Given the description of an element on the screen output the (x, y) to click on. 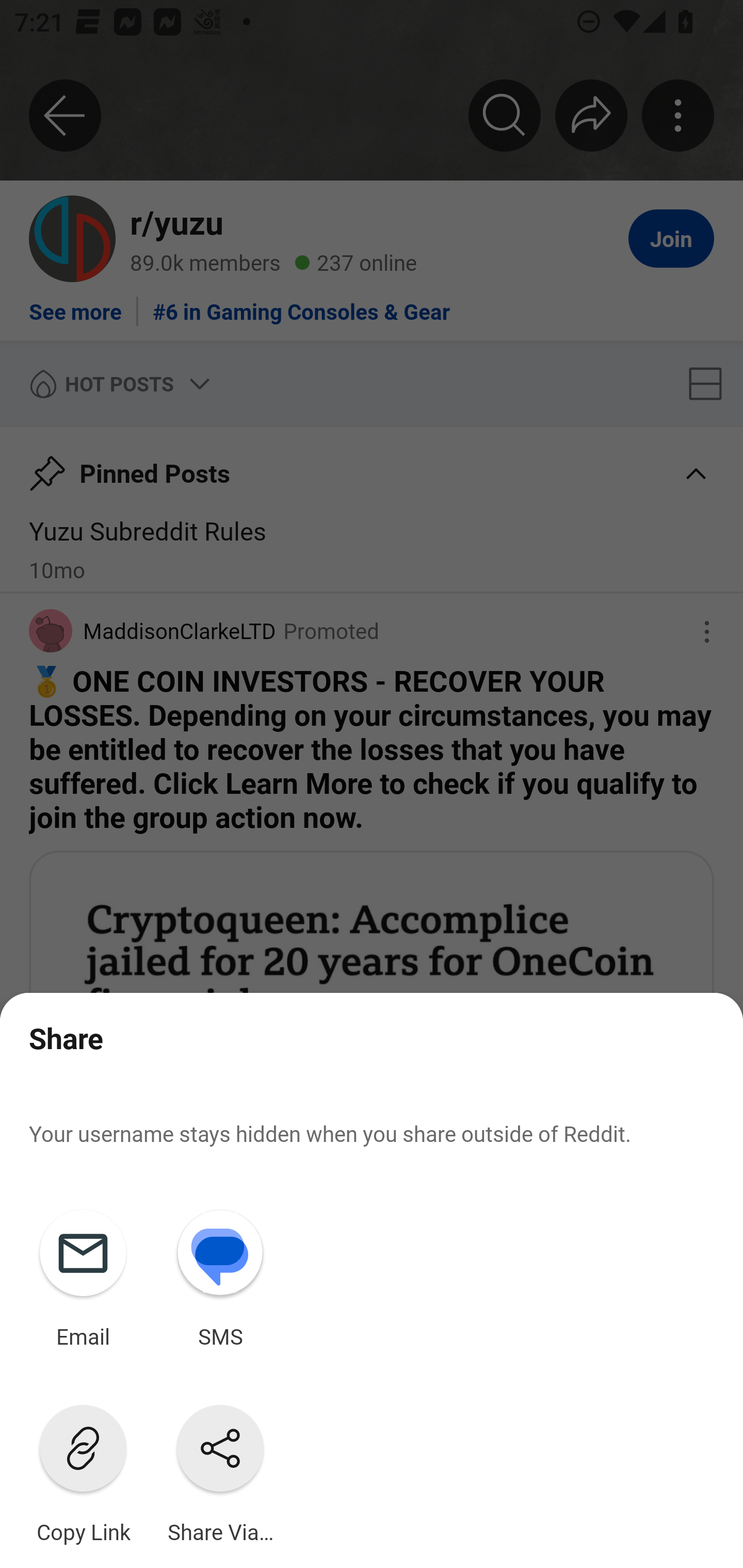
Email (82, 1274)
SMS (220, 1274)
Copy Link (82, 1470)
Share Via… (220, 1470)
